Given the description of an element on the screen output the (x, y) to click on. 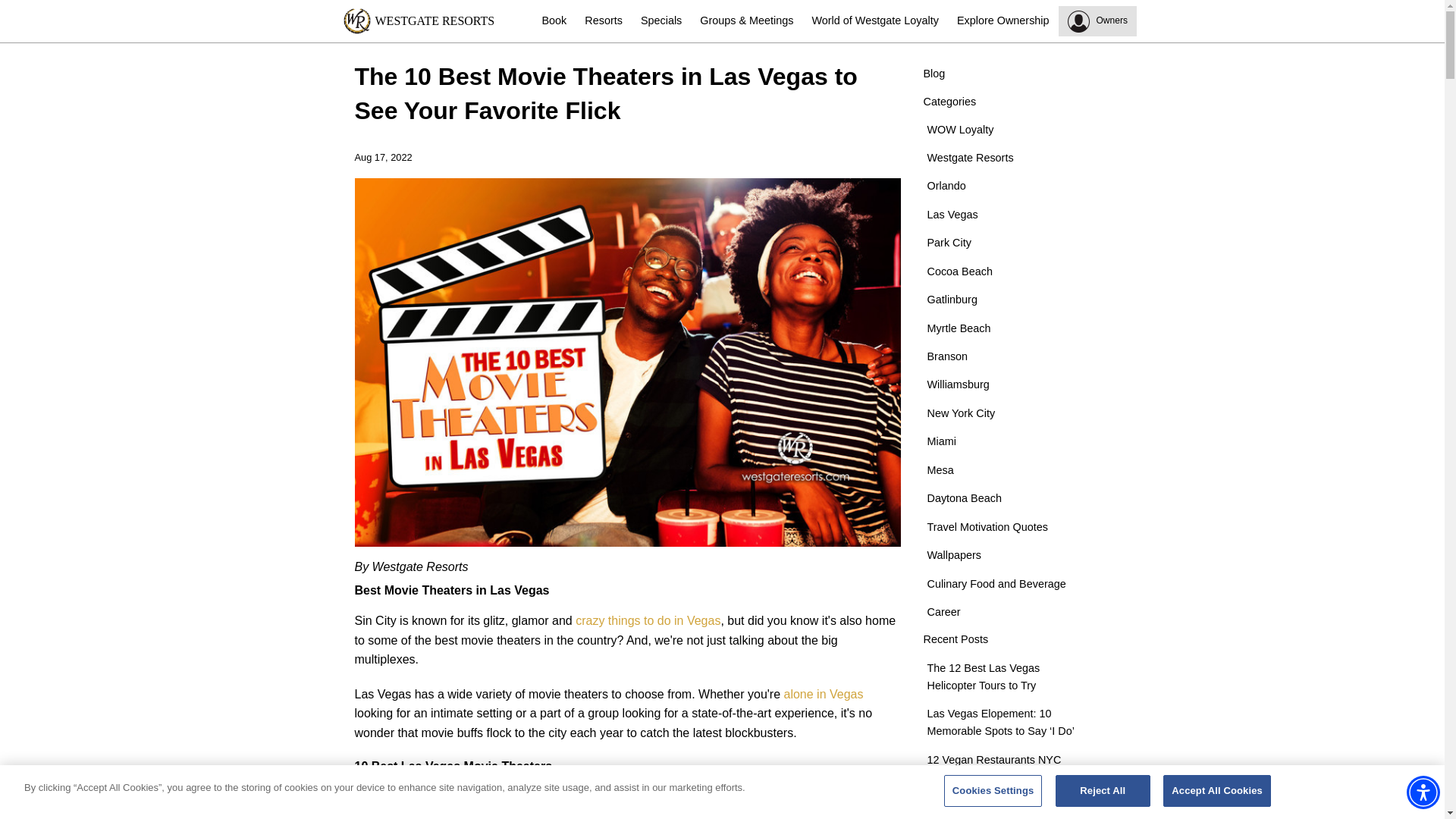
Resorts (603, 21)
Book (553, 21)
WESTGATE RESORTS (437, 21)
Accessibility Menu (1422, 792)
